Given the description of an element on the screen output the (x, y) to click on. 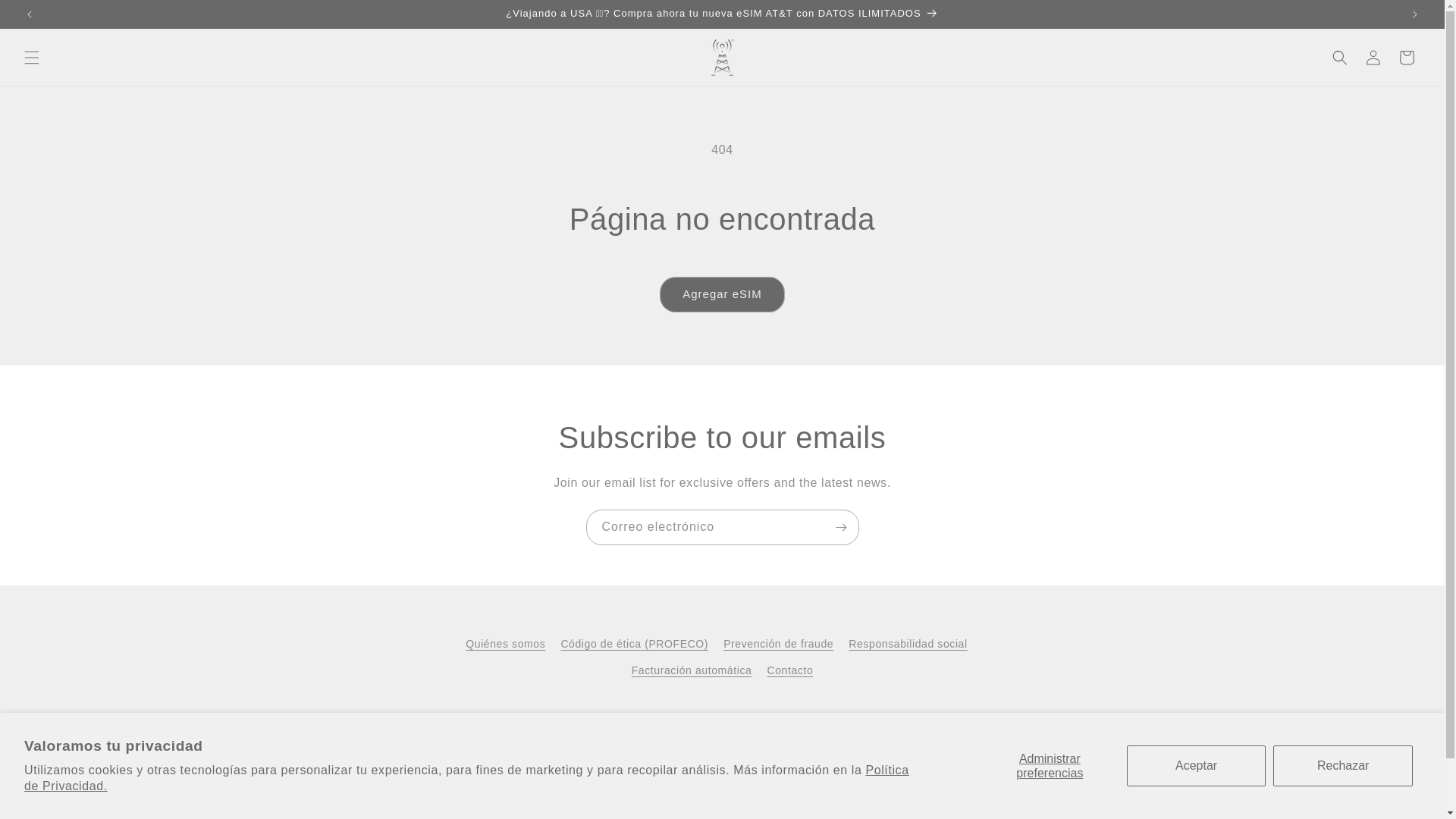
Carrito (1406, 57)
Rechazar (1342, 765)
Contacto (789, 670)
Aceptar (1196, 765)
Instagram (705, 723)
Administrar preferencias (1049, 765)
Ir directamente al contenido (45, 17)
Responsabilidad social (907, 643)
Agregar eSIM (721, 294)
